Given the description of an element on the screen output the (x, y) to click on. 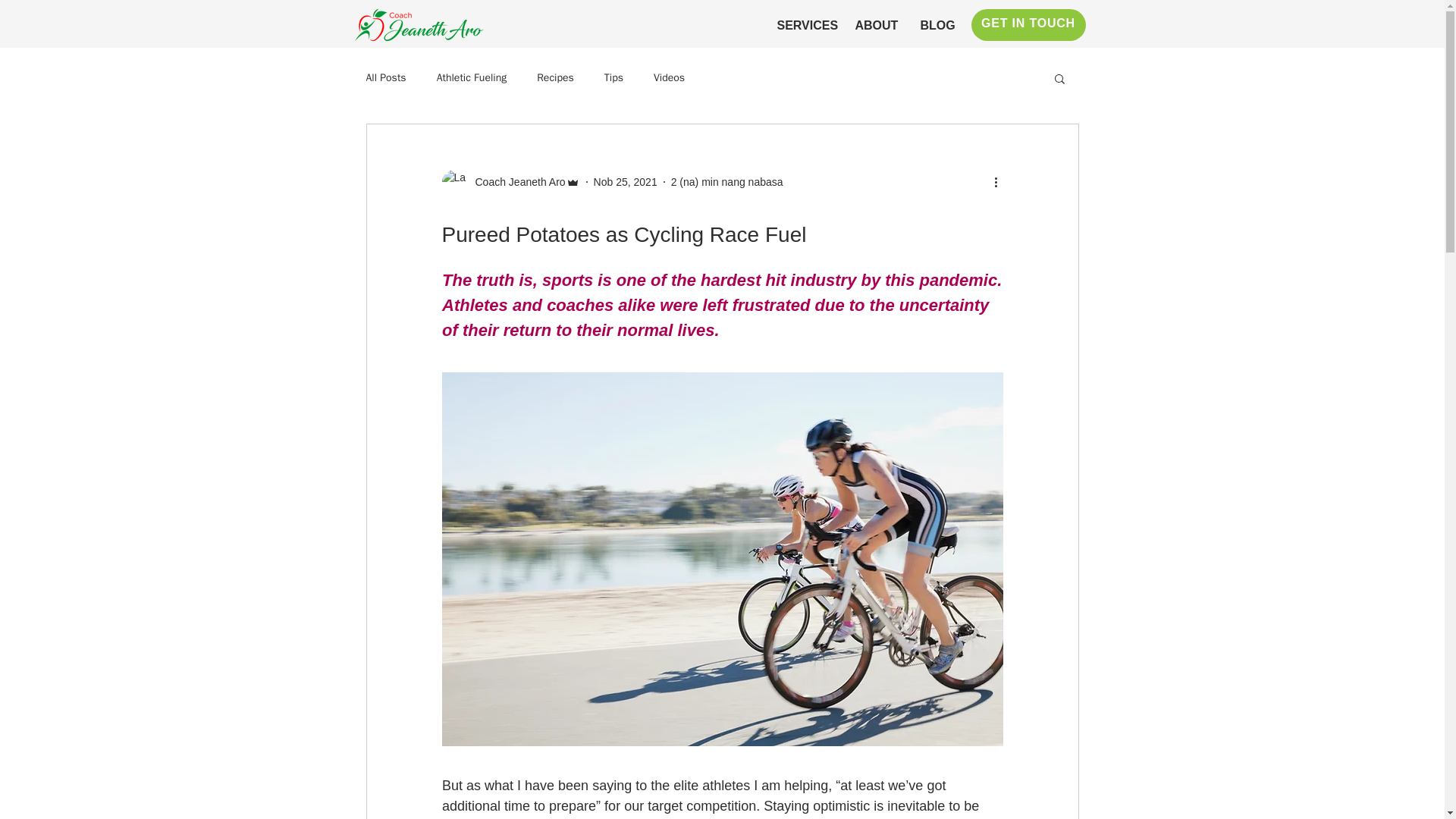
Athletic Fueling (471, 78)
Coach Jeaneth Aro (514, 182)
ABOUT (875, 25)
Videos (668, 78)
GET IN TOUCH (1027, 24)
All Posts (385, 78)
BLOG (935, 25)
Tips (613, 78)
Coach Jeaneth Aro (510, 181)
Nob 25, 2021 (626, 182)
SERVICES (804, 25)
Recipes (555, 78)
